Given the description of an element on the screen output the (x, y) to click on. 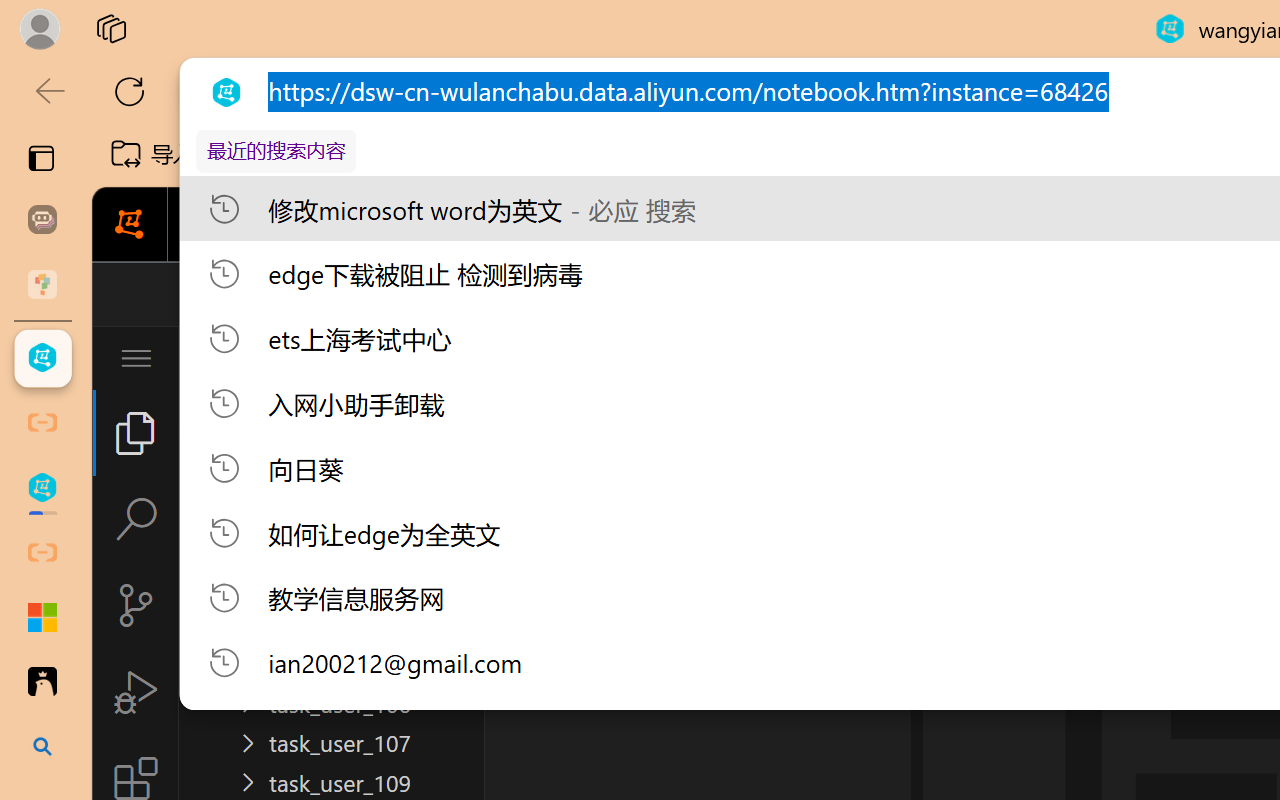
Class: actions-container (1027, 294)
Explorer Section: workspace (331, 409)
